Given the description of an element on the screen output the (x, y) to click on. 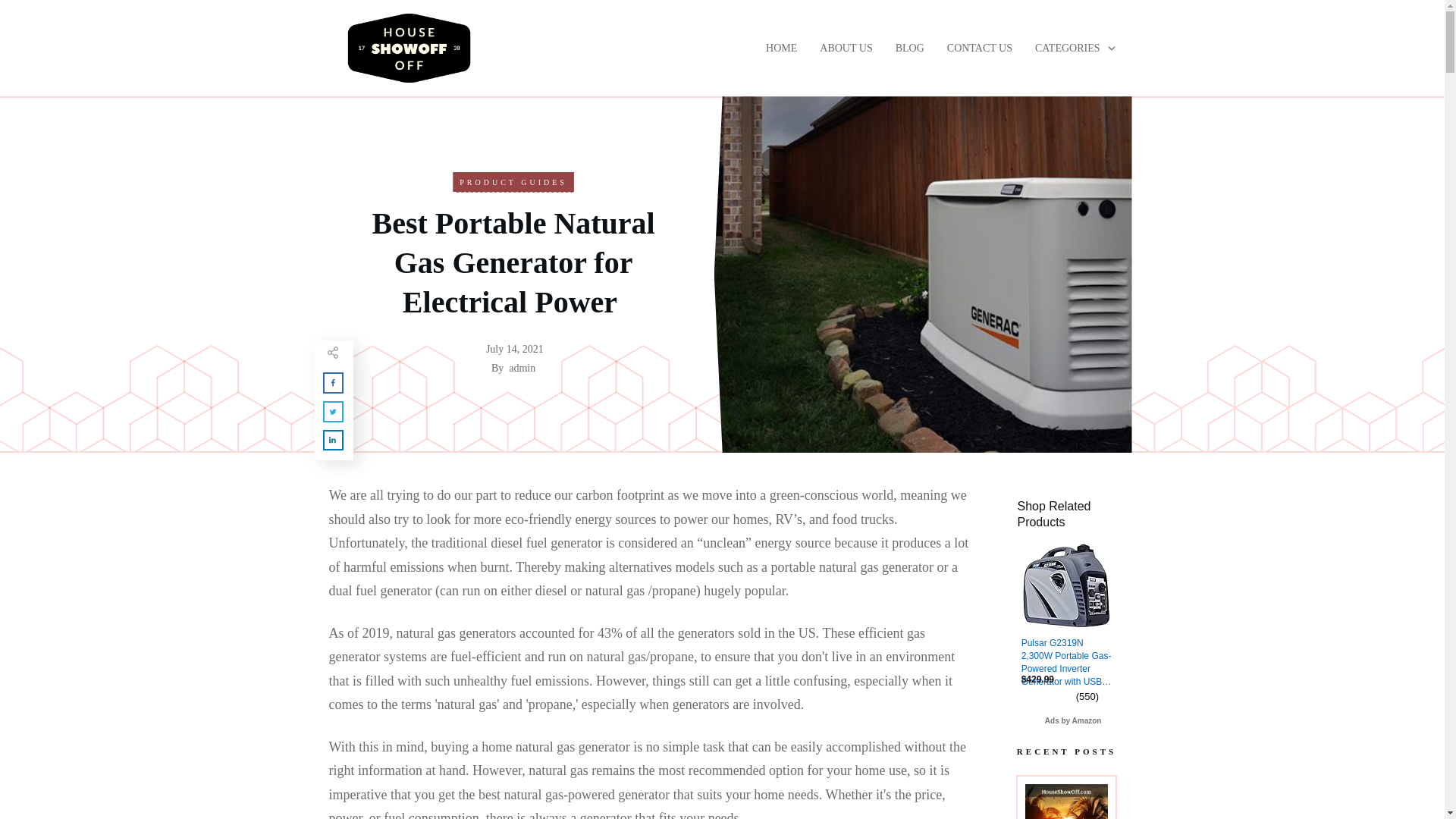
Ads by Amazon (1073, 720)
CONTACT US (979, 48)
PRODUCT GUIDES (513, 182)
CATEGORIES (1075, 48)
ABOUT US (845, 48)
HOME (780, 48)
AdChoices (1109, 720)
BLOG (909, 48)
Product Guides (513, 182)
